Given the description of an element on the screen output the (x, y) to click on. 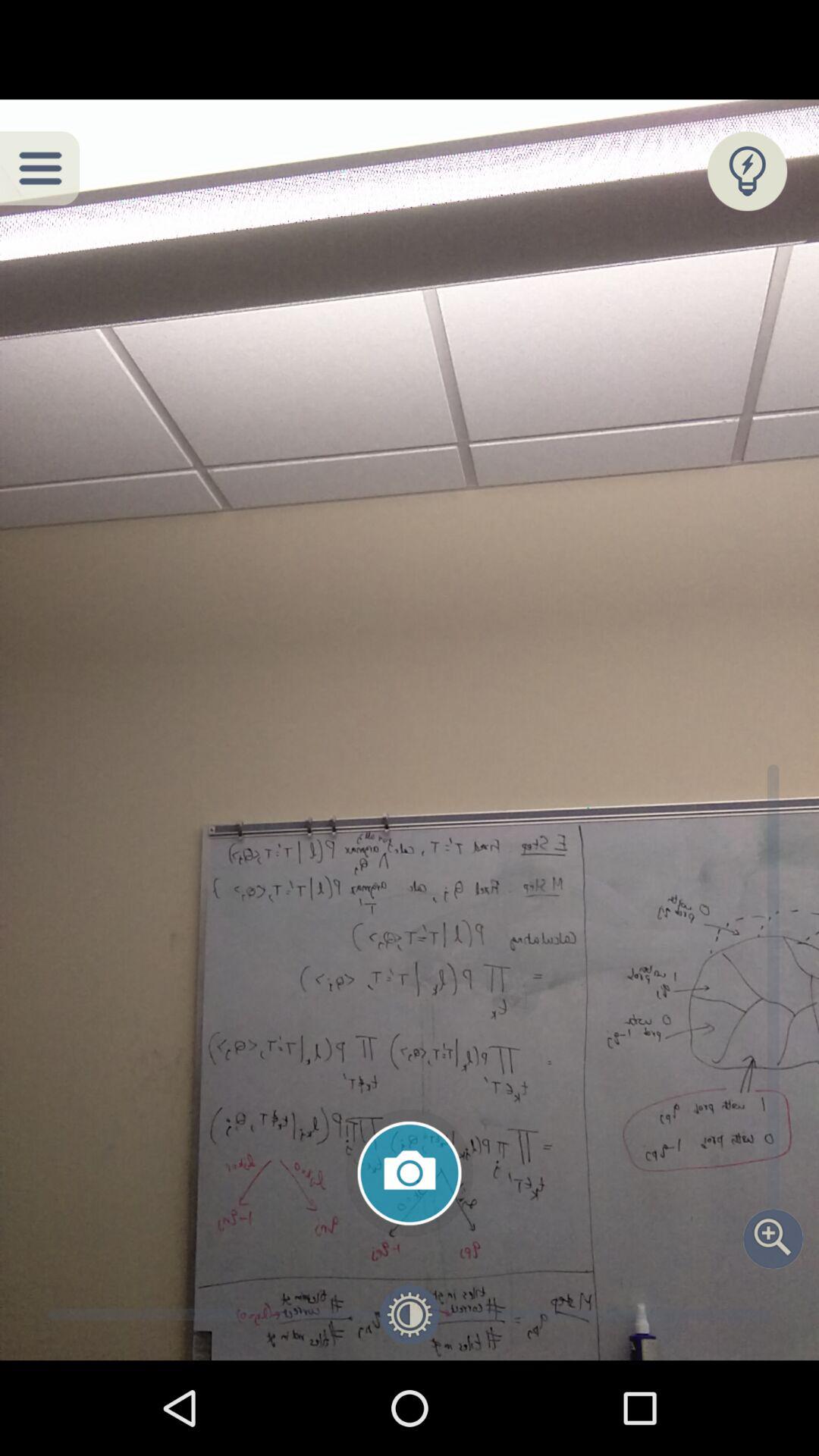
open options menu (39, 168)
